Given the description of an element on the screen output the (x, y) to click on. 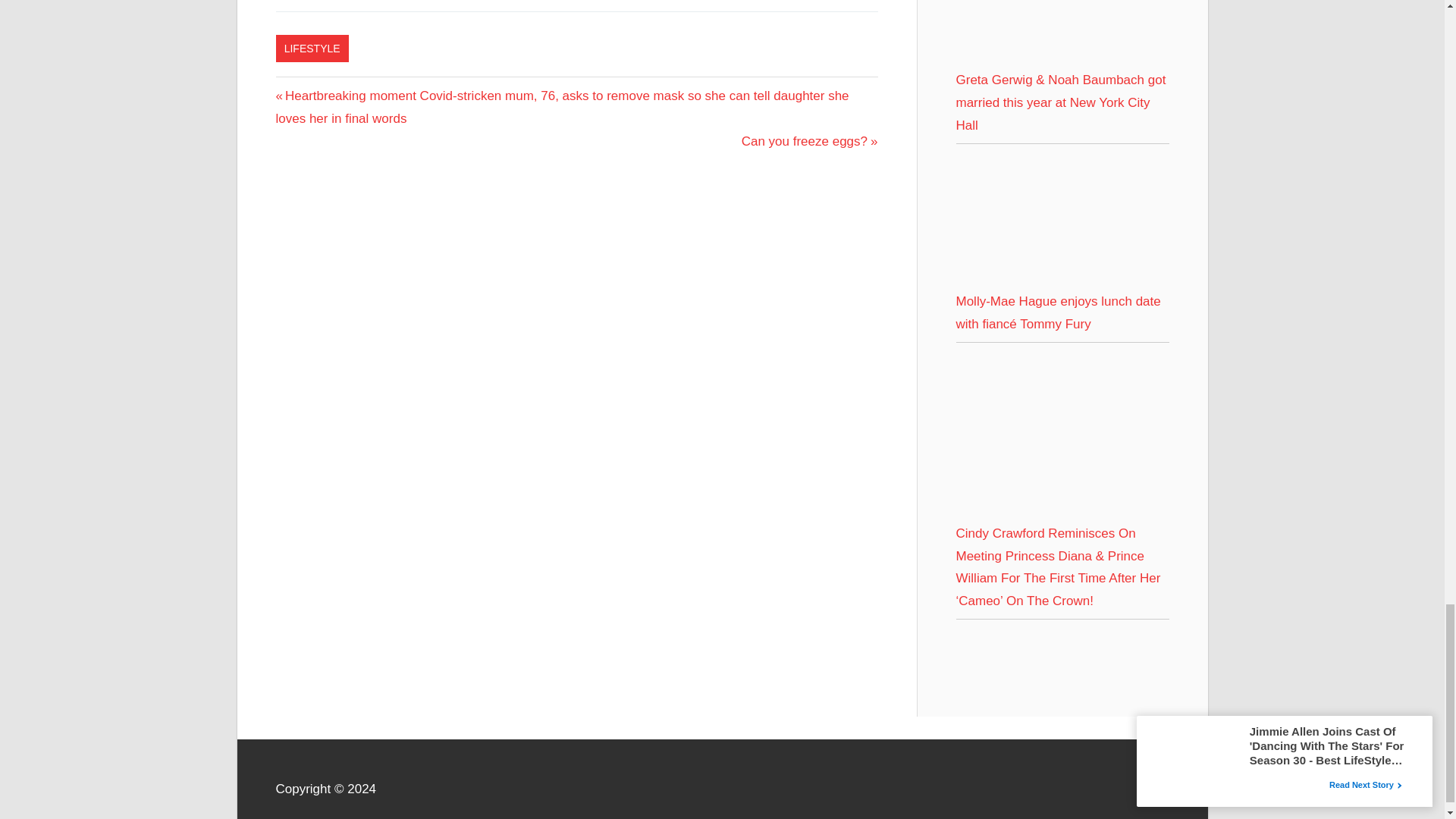
LIFESTYLE (312, 48)
